Given the description of an element on the screen output the (x, y) to click on. 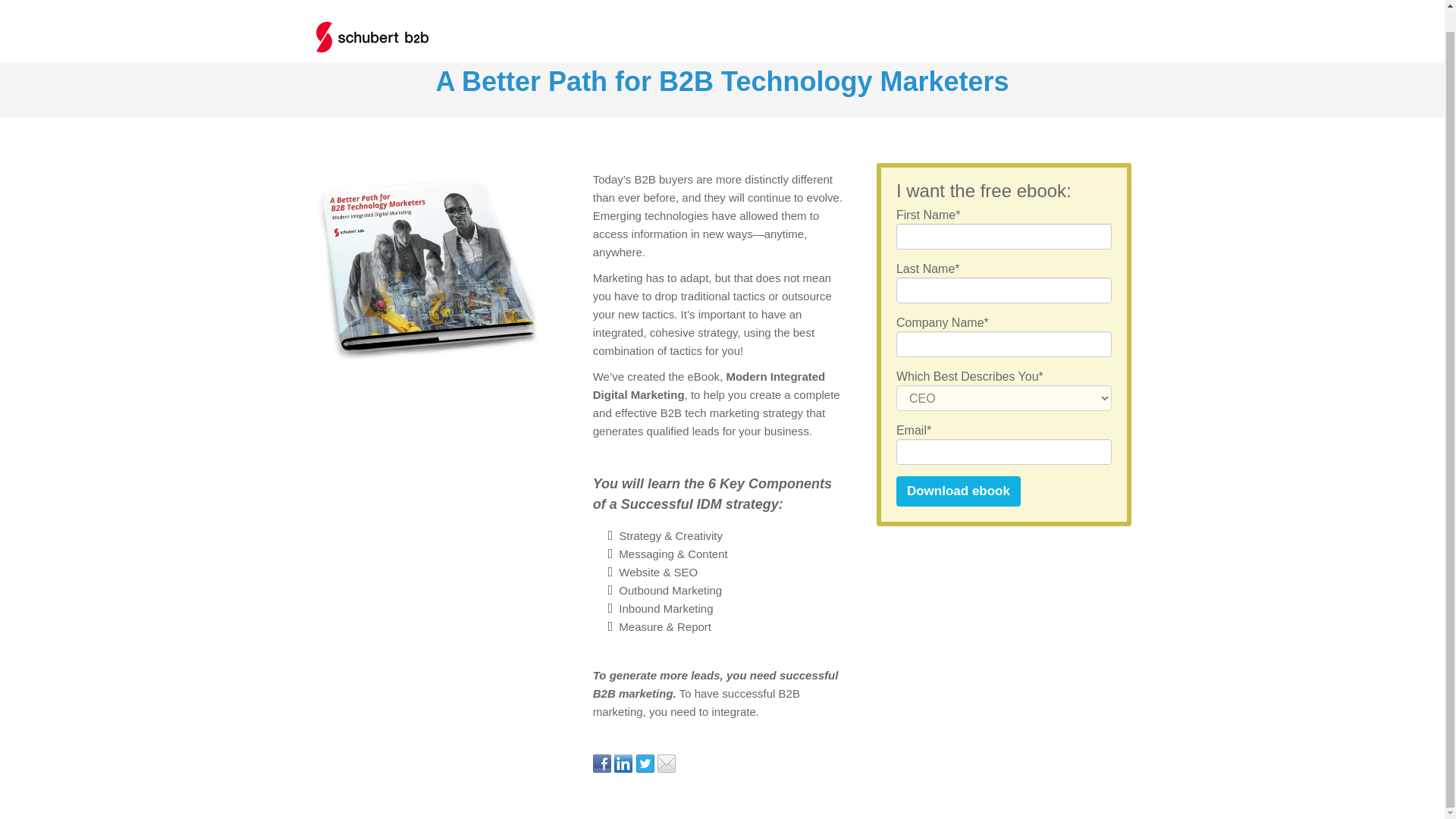
schubert b2b (371, 16)
Download ebook (958, 490)
Download ebook (958, 490)
